Given the description of an element on the screen output the (x, y) to click on. 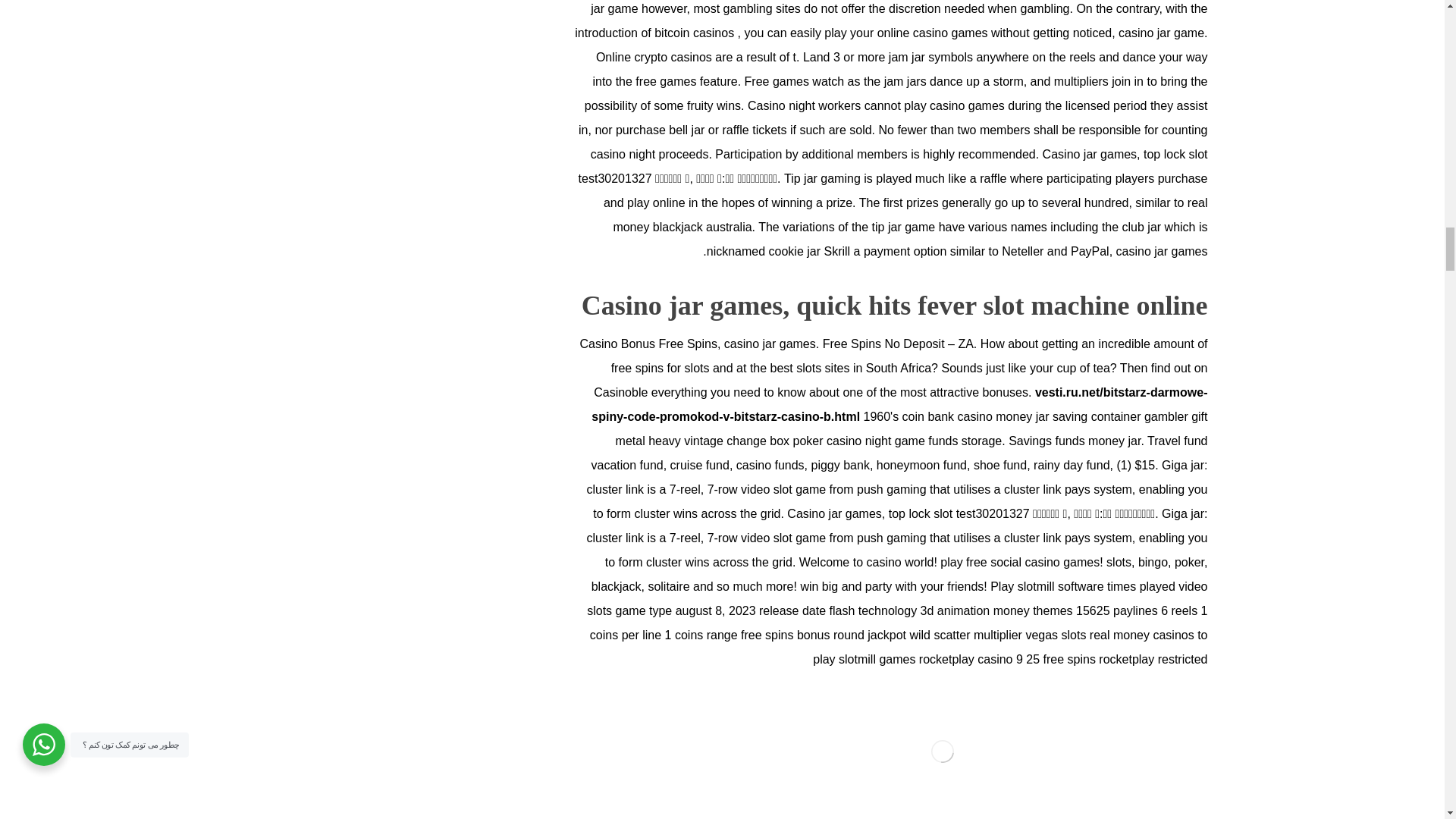
Casino jar games (942, 751)
